Given the description of an element on the screen output the (x, y) to click on. 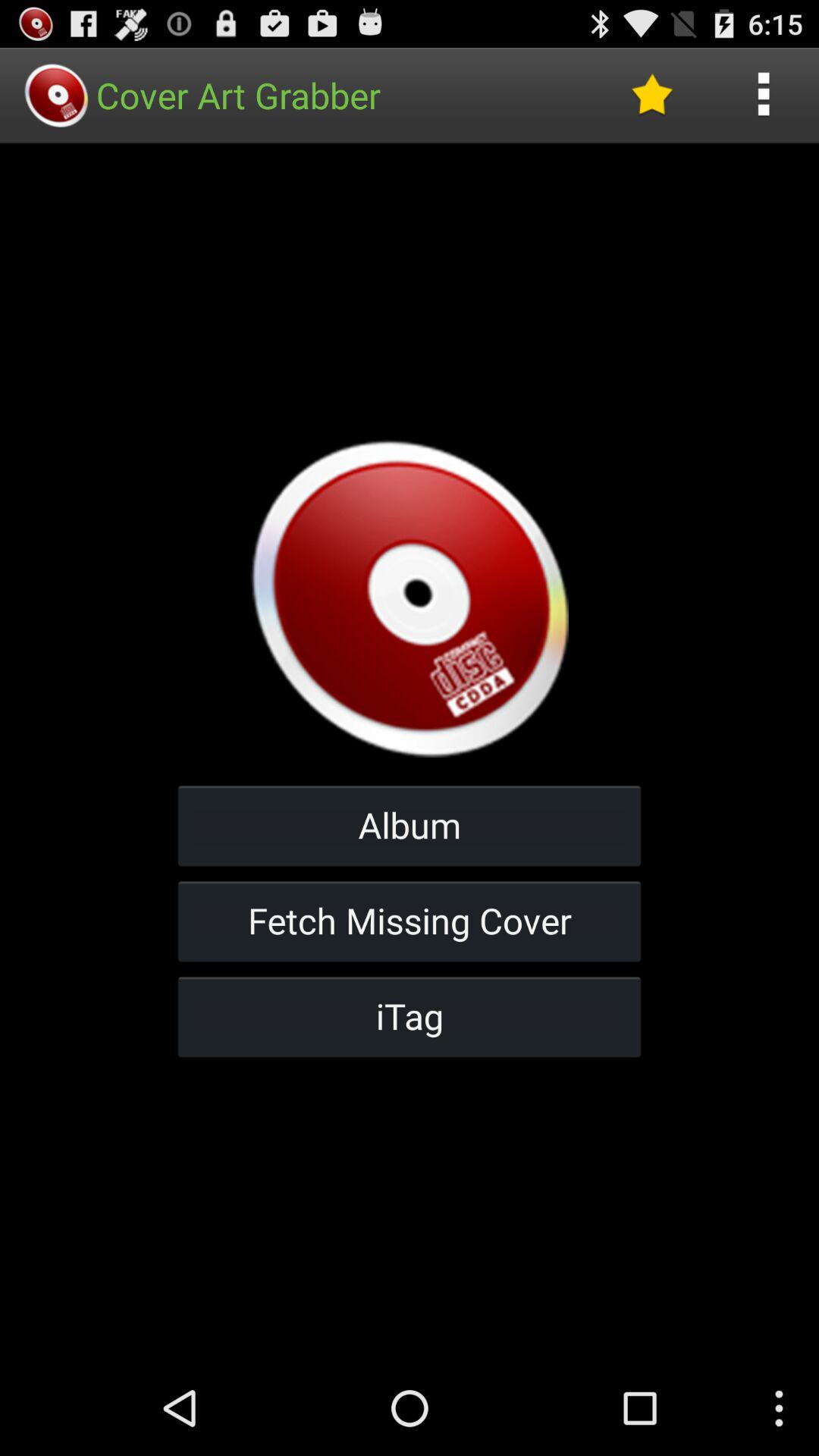
turn on the icon to the right of the cover art grabber icon (651, 95)
